Given the description of an element on the screen output the (x, y) to click on. 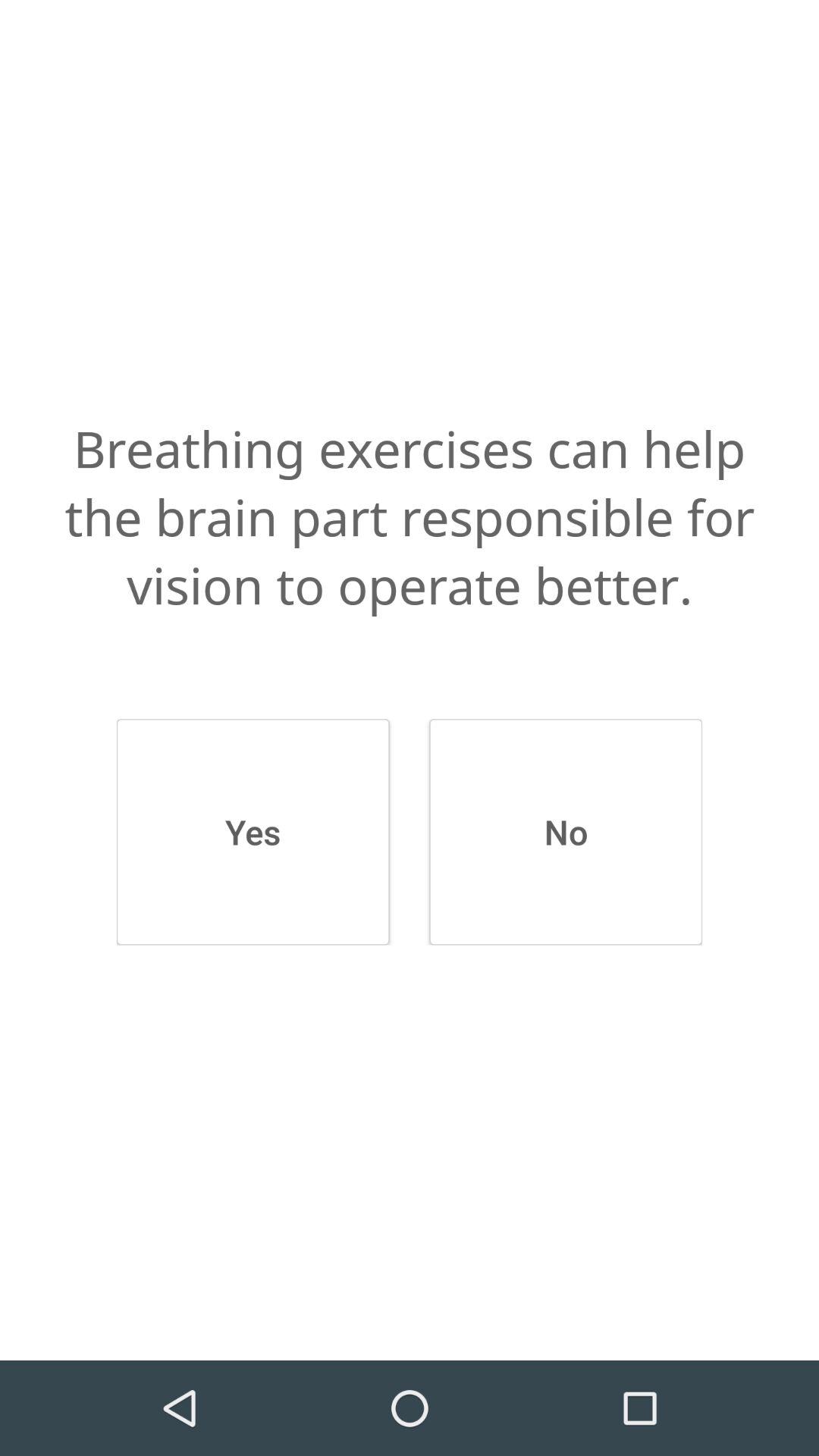
press icon to the right of the yes icon (565, 831)
